Given the description of an element on the screen output the (x, y) to click on. 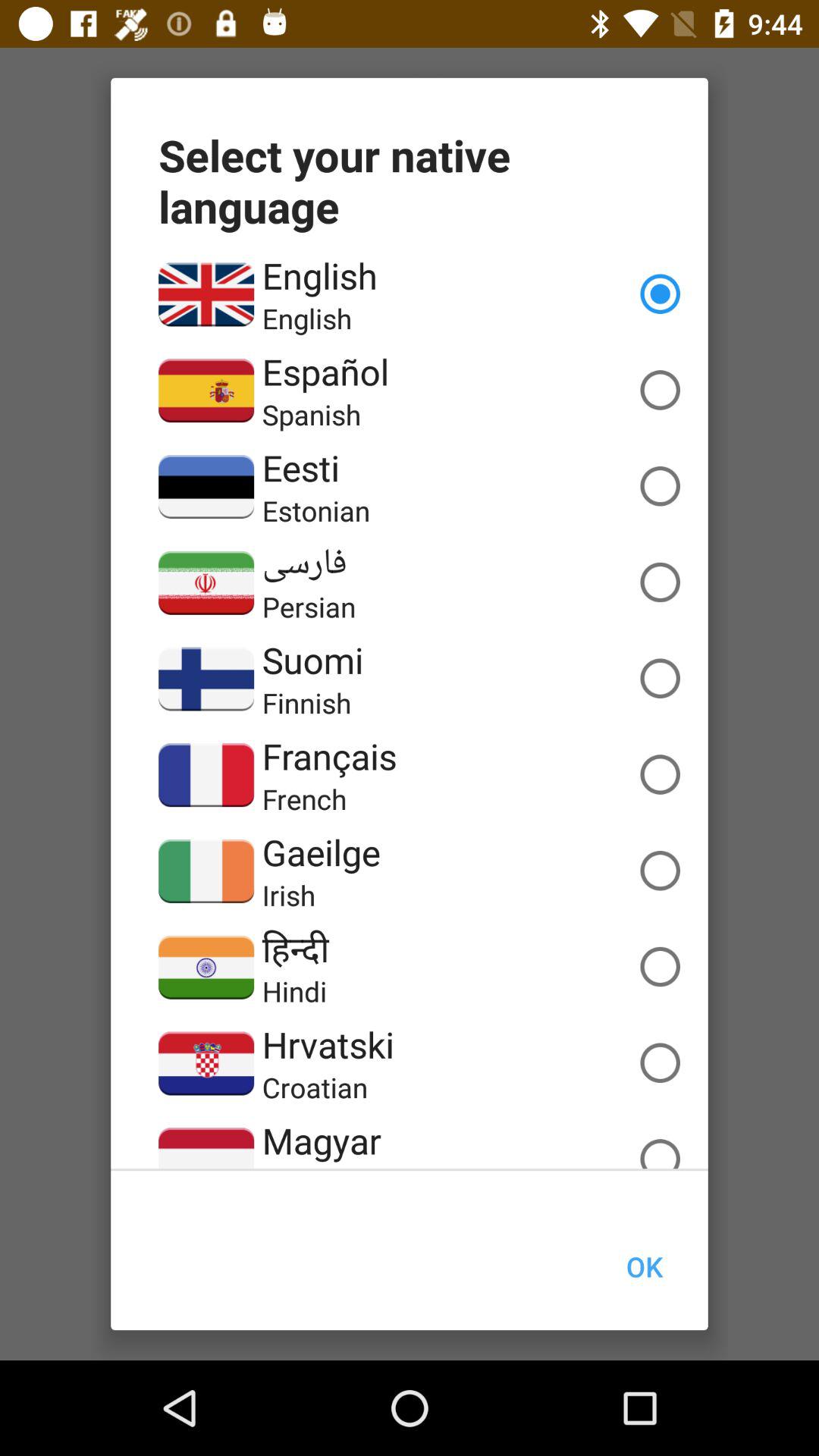
open app below the magyar item (326, 1166)
